Given the description of an element on the screen output the (x, y) to click on. 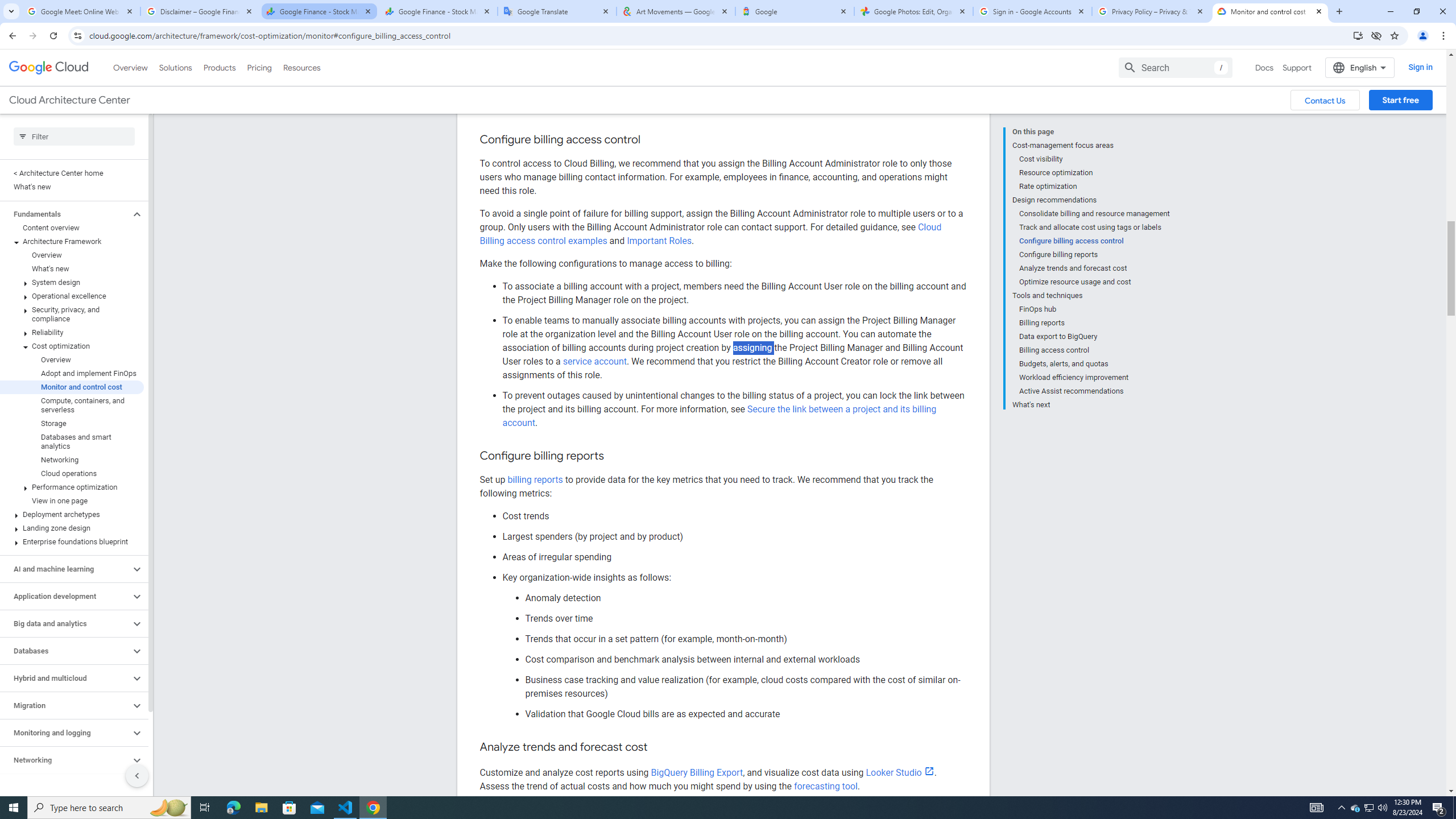
Contact Us (1324, 50)
Reliability and disaster recovery (64, 738)
Fundamentals (64, 164)
Search (1174, 18)
Billing access control (1094, 300)
Cloud Billing access control examples (710, 183)
AI and machine learning (64, 519)
Products (218, 18)
Databases and smart analytics (72, 391)
Cost-management focus areas (1090, 96)
